Given the description of an element on the screen output the (x, y) to click on. 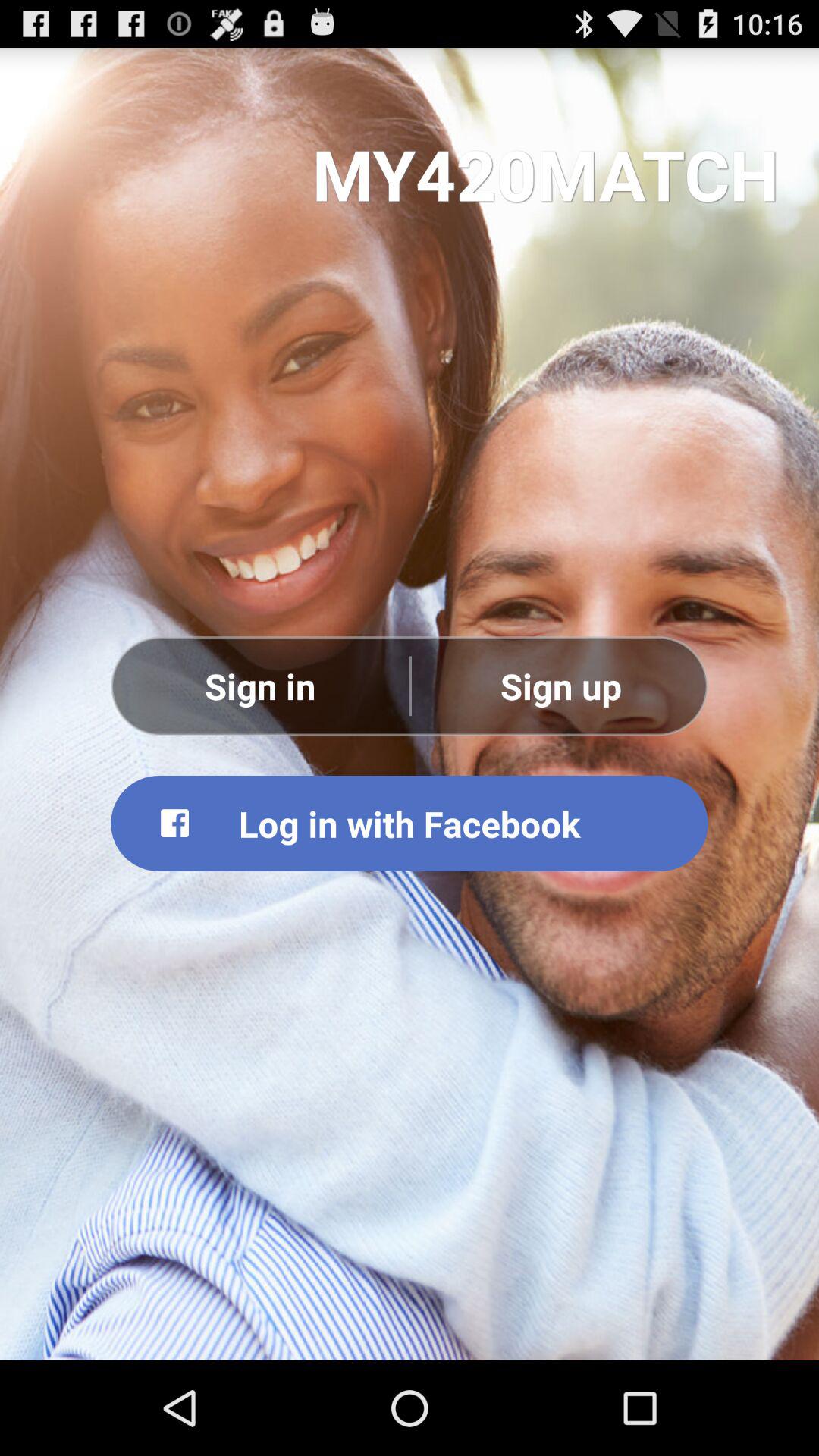
click sign in button (259, 685)
